Given the description of an element on the screen output the (x, y) to click on. 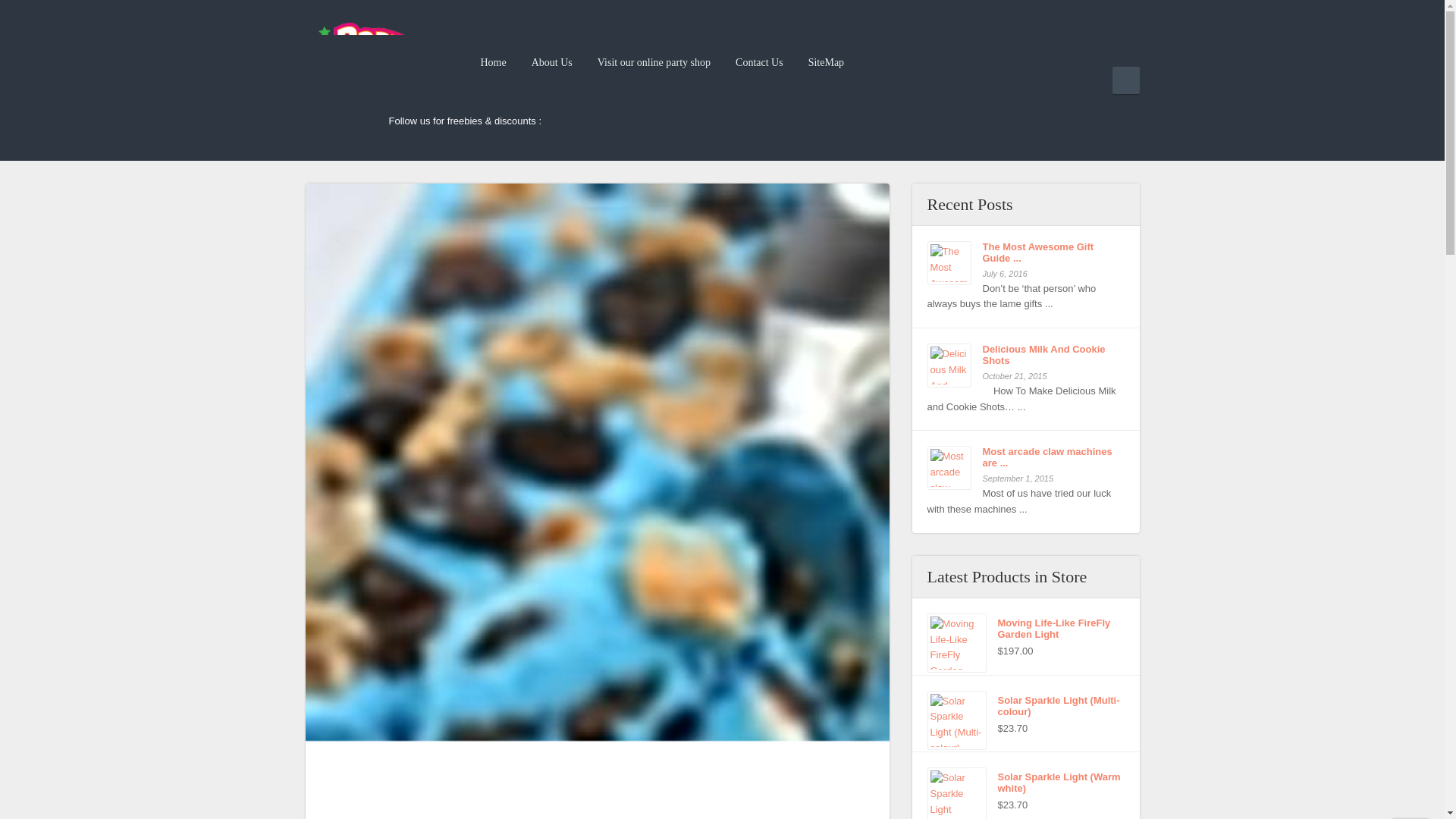
Moving Life-Like FireFly Garden Light (1025, 628)
Contact Us (759, 61)
The Most Awesome Gift Guide EVER (1025, 251)
About Us (552, 61)
Delicious Milk And Cookie Shots (948, 365)
The Most Awesome Gift Guide EVER (948, 262)
Home (493, 61)
Most arcade claw machines are ... (1025, 456)
Delicious Milk And Cookie Shots (1025, 354)
Visit our online party shop (653, 61)
PartySuppliesNow.com.au (363, 67)
The Most Awesome Gift Guide ... (1025, 251)
SiteMap (825, 61)
